Given the description of an element on the screen output the (x, y) to click on. 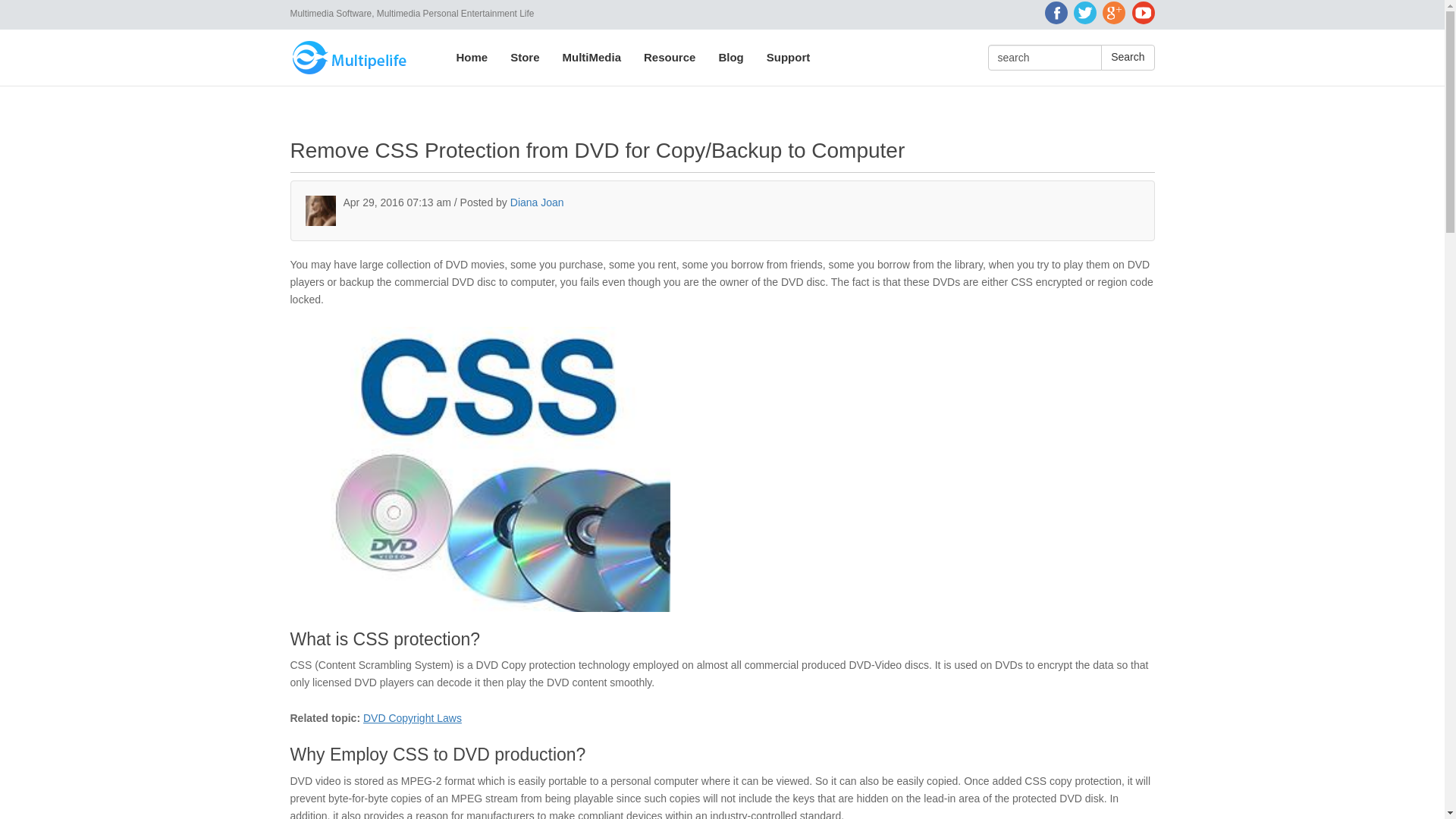
Search (1127, 57)
Home (471, 57)
Store (524, 57)
search (1044, 57)
MultiMedia (592, 57)
